Given the description of an element on the screen output the (x, y) to click on. 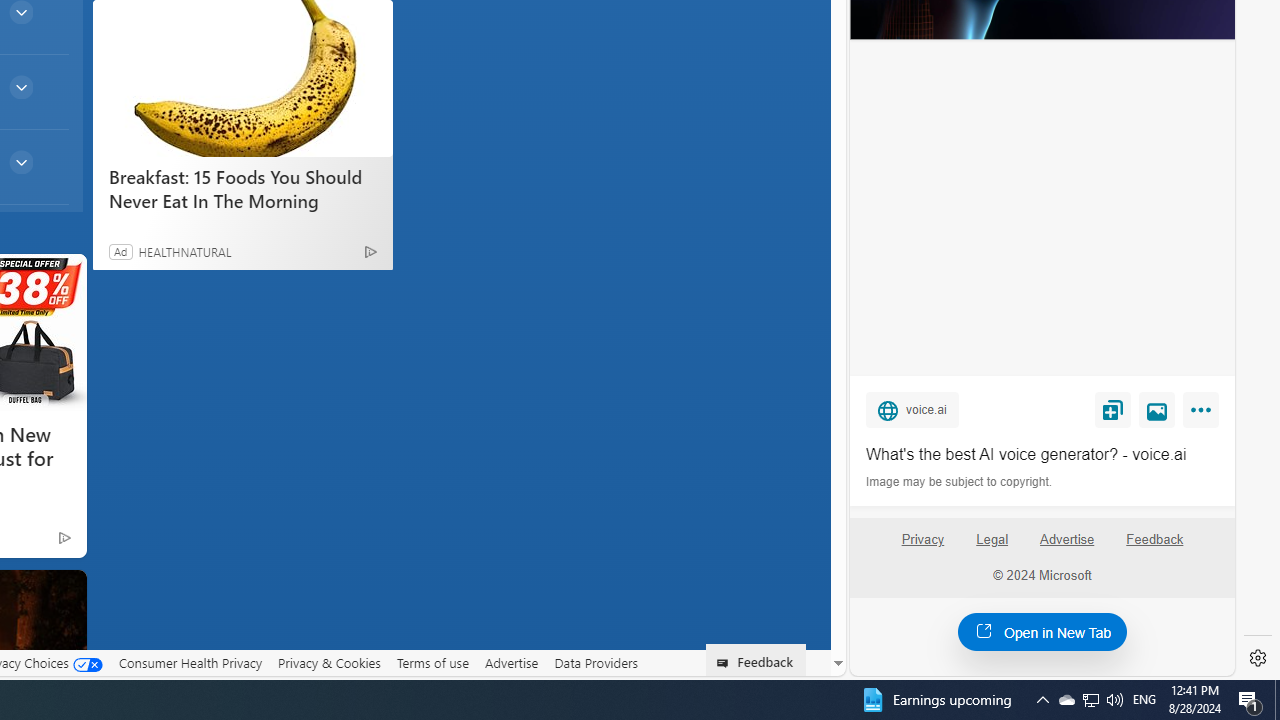
Terms of use (431, 663)
Class: feedback_link_icon-DS-EntryPoint1-1 (726, 663)
Privacy & Cookies (329, 662)
voice.ai (912, 409)
Data Providers (595, 662)
Breakfast: 15 Foods You Should Never Eat In The Morning (242, 188)
HEALTHNATURAL (184, 251)
Breakfast: 15 Foods You Should Never Eat In The Morning (242, 78)
View image (1157, 409)
common/thinArrow (20, 161)
